Given the description of an element on the screen output the (x, y) to click on. 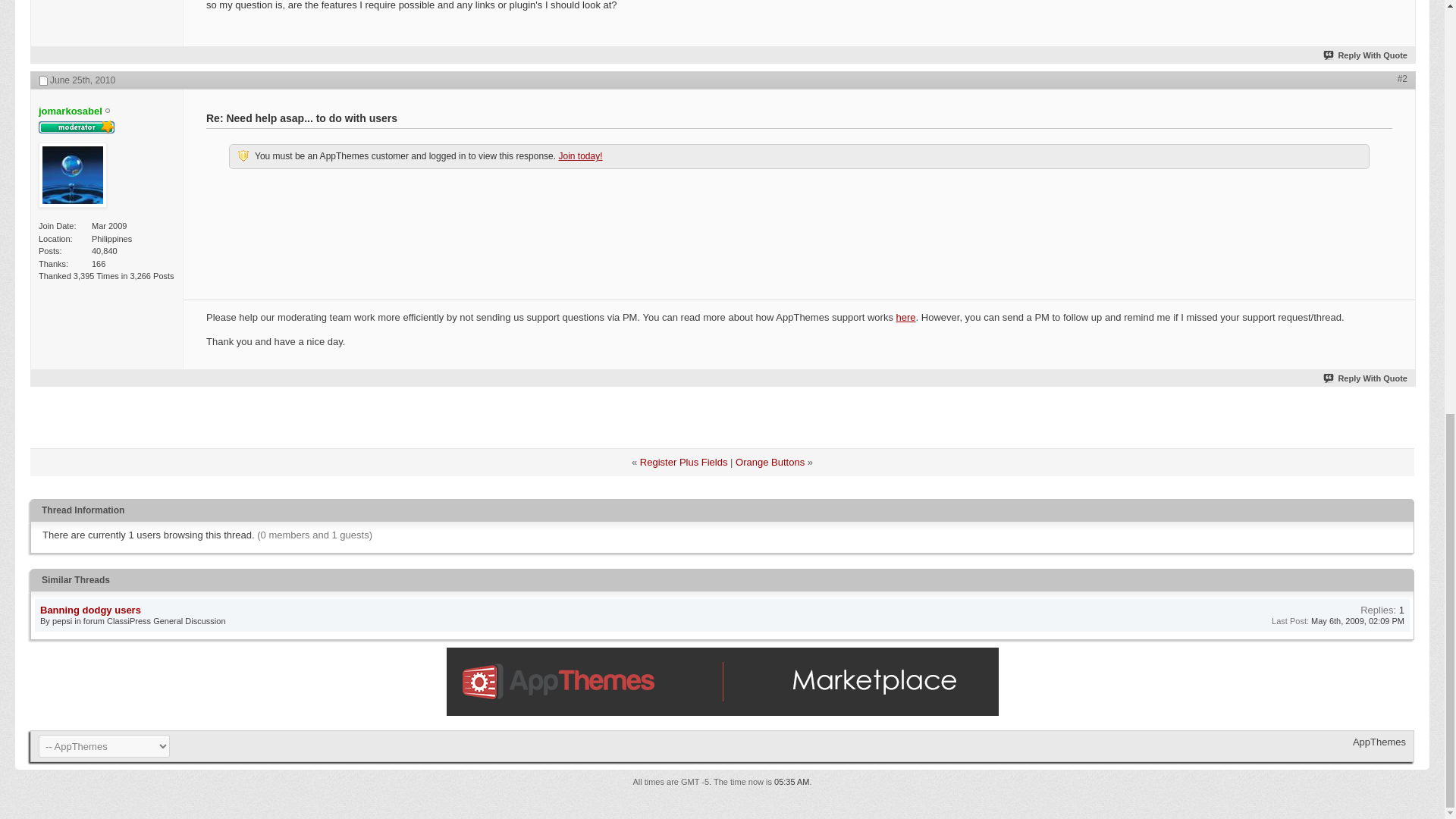
Join today! (579, 155)
Reply With Quote (1364, 378)
Reply With Quote (1364, 54)
Register Plus Fields (684, 461)
Banning dodgy users (90, 609)
here (905, 317)
jomarkosabel is offline (72, 176)
jomarkosabel (70, 111)
Reply With Quote (1364, 378)
Orange Buttons (770, 461)
jomarkosabel's Avatar (72, 175)
jomarkosabel is offline (70, 111)
Reply With Quote (1364, 54)
